Given the description of an element on the screen output the (x, y) to click on. 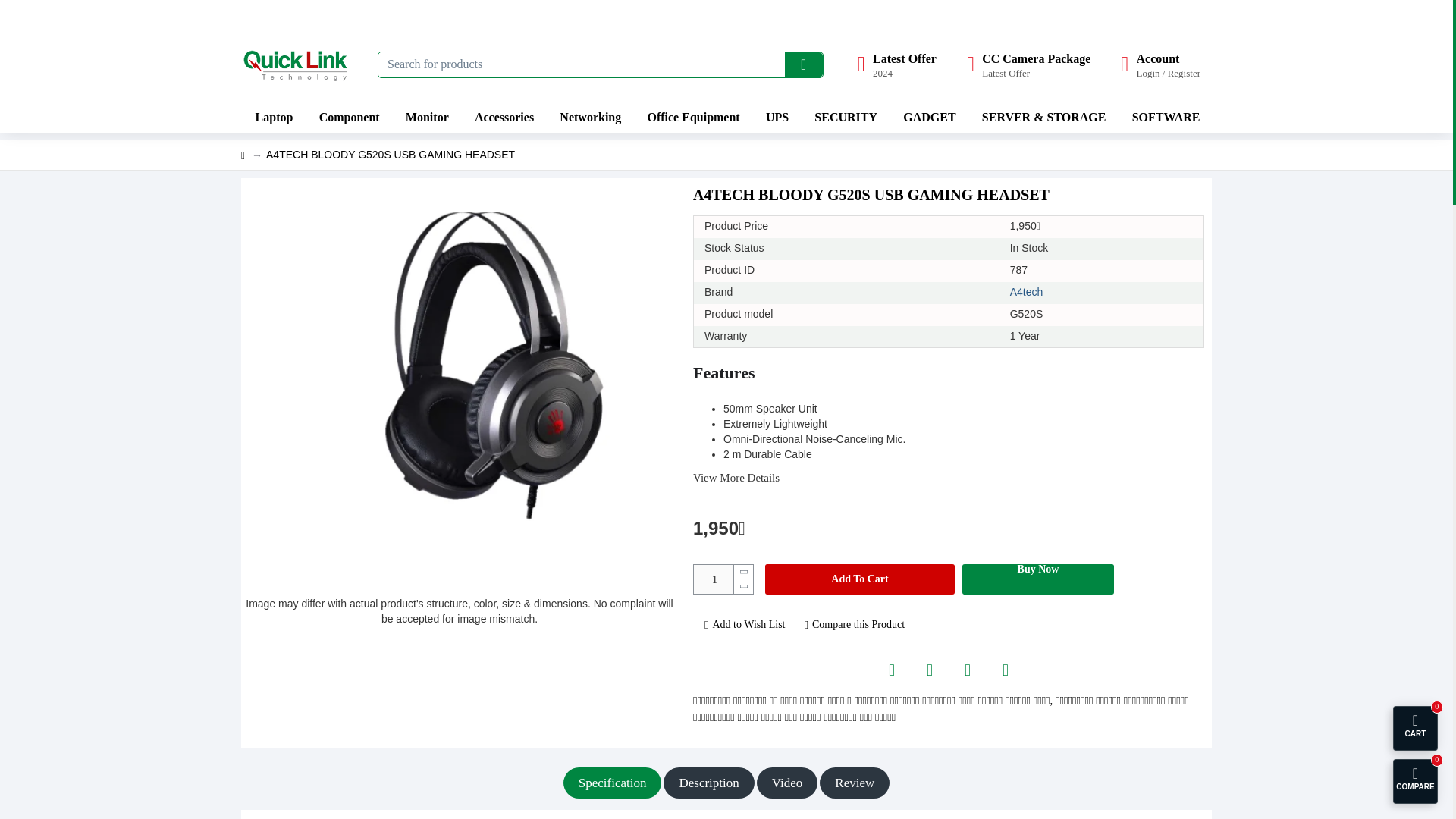
Search-title (803, 63)
Laptop (272, 117)
QuickLink BD (298, 63)
Instagram (1028, 64)
1 (896, 64)
Follow on Facebook (1005, 670)
A4TECH BLOODY G520S USB GAMING HEADSET (723, 579)
Twitter (891, 670)
Monitor (929, 670)
Follow on YouTube (347, 117)
